Given the description of an element on the screen output the (x, y) to click on. 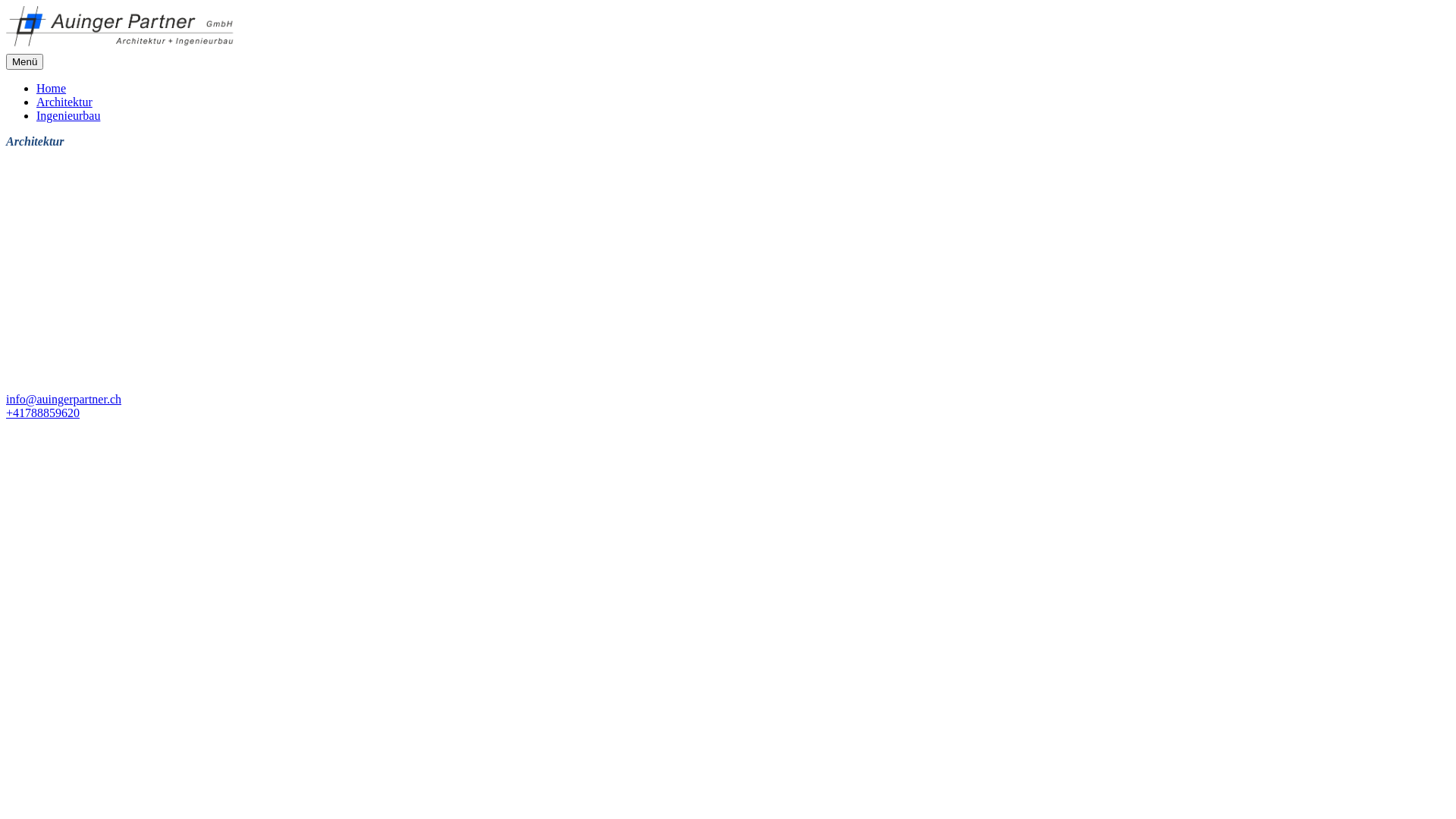
info@auingerpartner.ch Element type: text (63, 398)
+41788859620 Element type: text (42, 412)
Architektur Element type: text (64, 101)
Home Element type: text (50, 87)
Auinger Partner GmbH Element type: hover (122, 28)
Ingenieurbau Element type: text (68, 115)
